Given the description of an element on the screen output the (x, y) to click on. 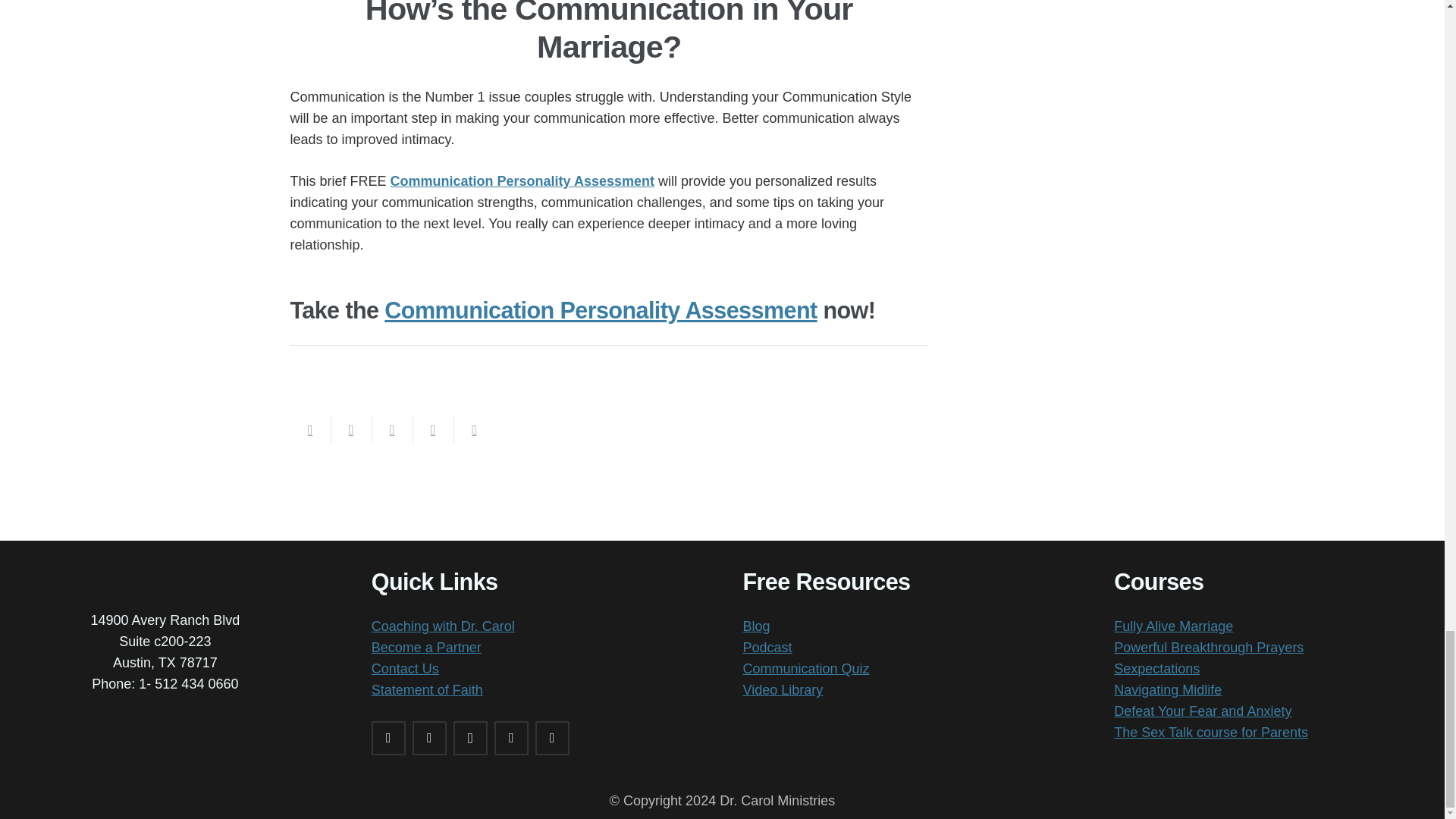
Share this (432, 429)
Pin this (473, 429)
iTunes (511, 738)
Share this (350, 429)
YouTube (552, 738)
Instagram (469, 738)
Email this (309, 429)
Tweet this (391, 429)
Communication Personality Assessment (521, 181)
Facebook (388, 738)
